Given the description of an element on the screen output the (x, y) to click on. 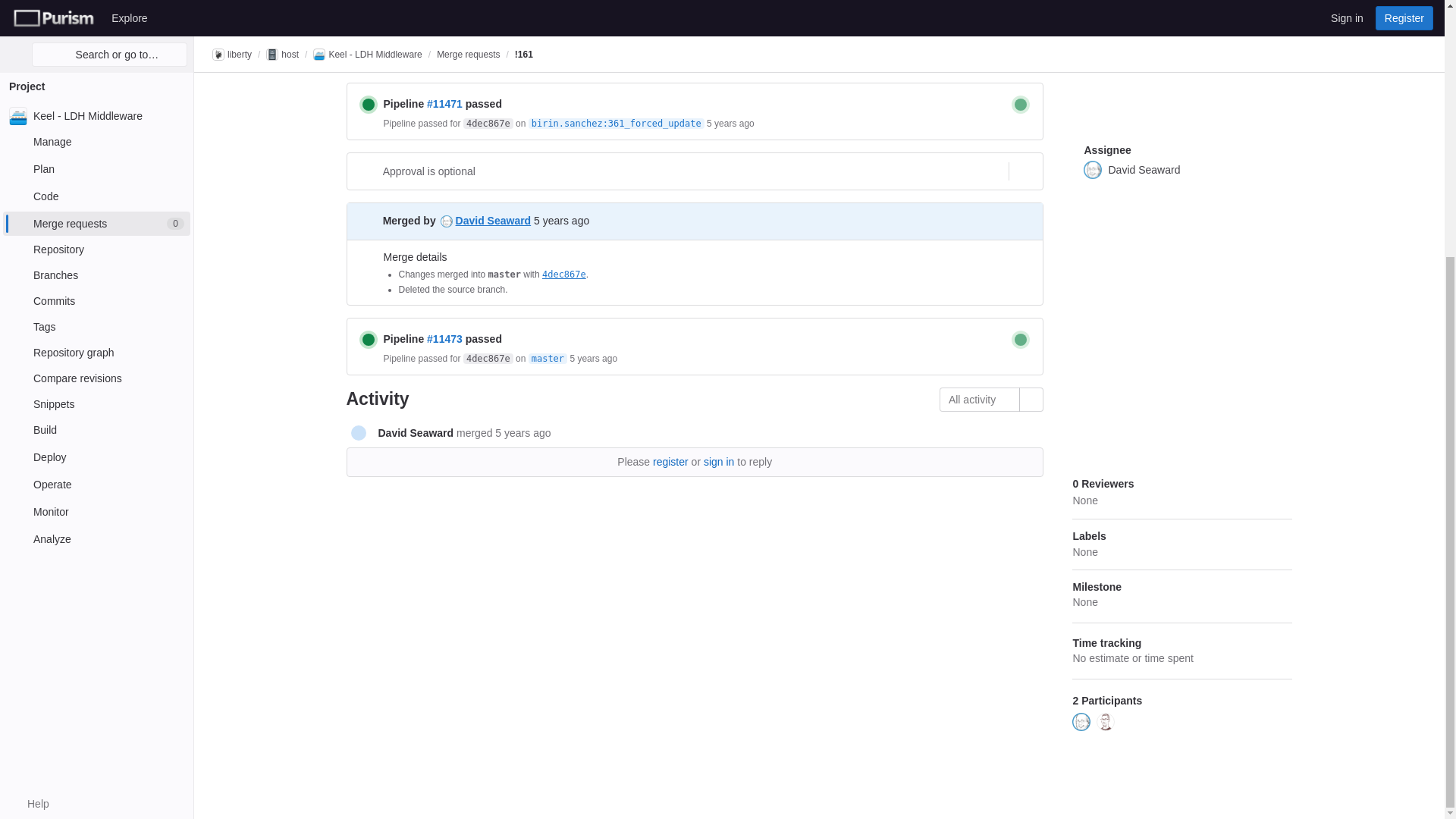
Collapse eligible approvers (1023, 171)
Passed (368, 104)
Operate (96, 118)
Monitor (96, 145)
Build (96, 63)
Compare revisions (96, 12)
Snippets (96, 37)
deb: passed (1020, 104)
Deploy (96, 90)
